Given the description of an element on the screen output the (x, y) to click on. 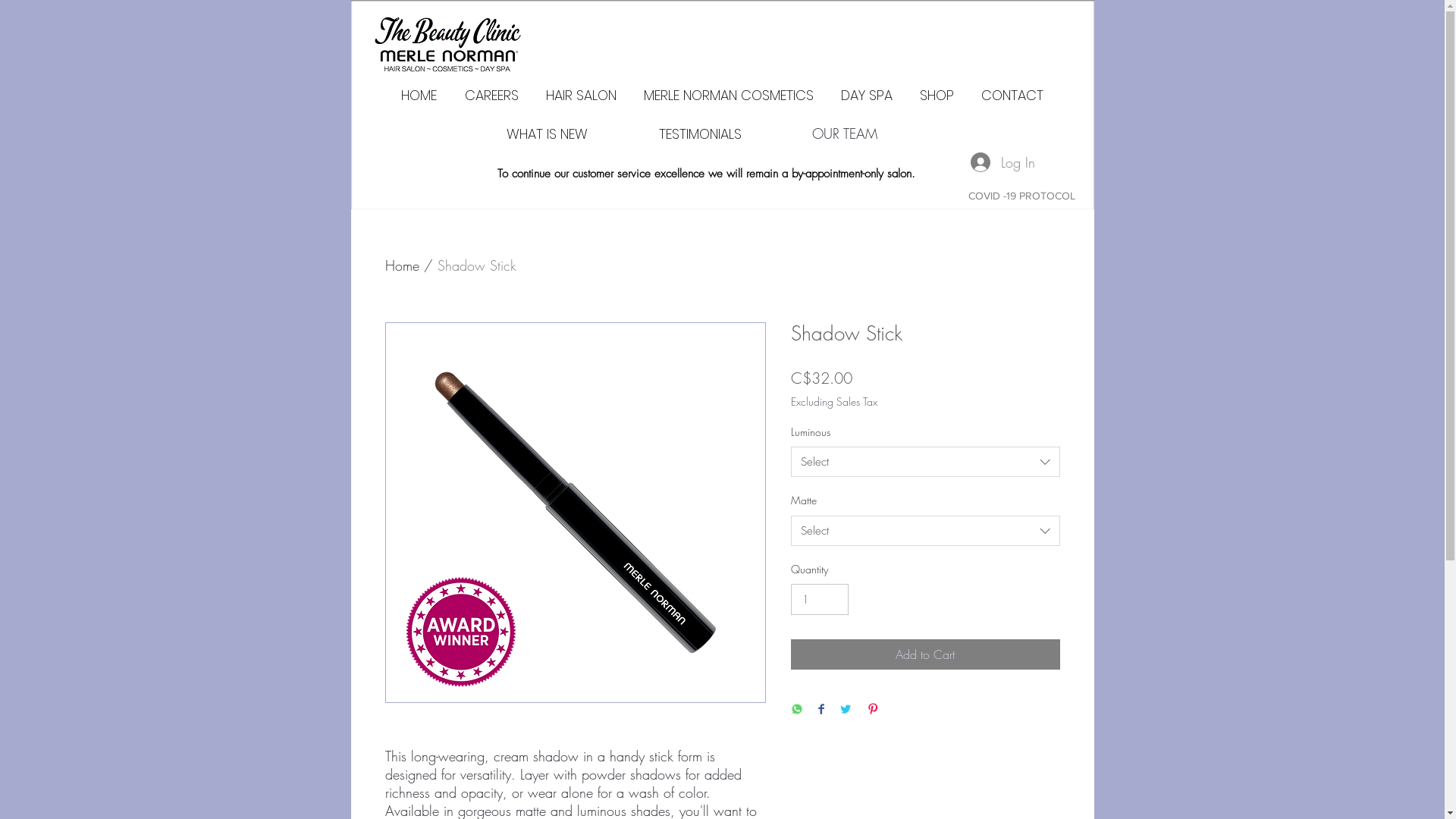
Home Element type: text (402, 265)
Log In Element type: text (1002, 162)
HAIR SALON Element type: text (581, 94)
HOME Element type: text (418, 94)
WHAT IS NEW Element type: text (546, 133)
Add to Cart Element type: text (924, 654)
COVID -19 PROTOCOL Element type: text (1021, 195)
Select Element type: text (924, 461)
CAREERS Element type: text (490, 94)
Shadow Stick Element type: text (475, 265)
TESTIMONIALS Element type: text (699, 133)
Select Element type: text (924, 530)
OUR TEAM Element type: text (843, 133)
CONTACT Element type: text (1012, 94)
